Given the description of an element on the screen output the (x, y) to click on. 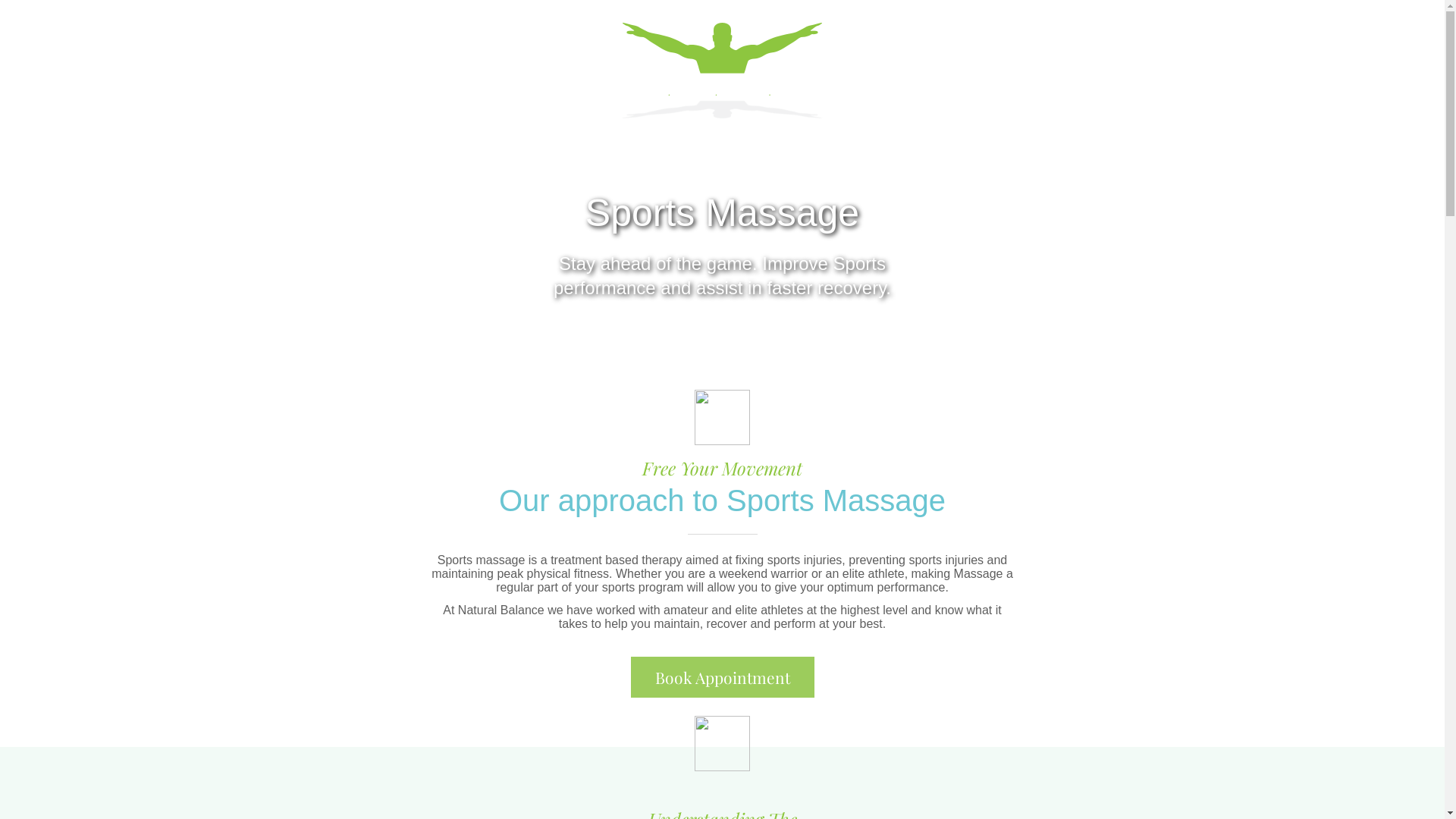
Our Services Element type: text (483, 77)
Our Contact Element type: text (1101, 74)
Home Element type: text (324, 77)
Bookings (02) 8860 9430 Element type: text (1049, 31)
Our Community Element type: text (999, 74)
Atlas Norwest Element type: text (352, 37)
Book Appointment Element type: text (722, 676)
About Us Element type: text (390, 77)
